Given the description of an element on the screen output the (x, y) to click on. 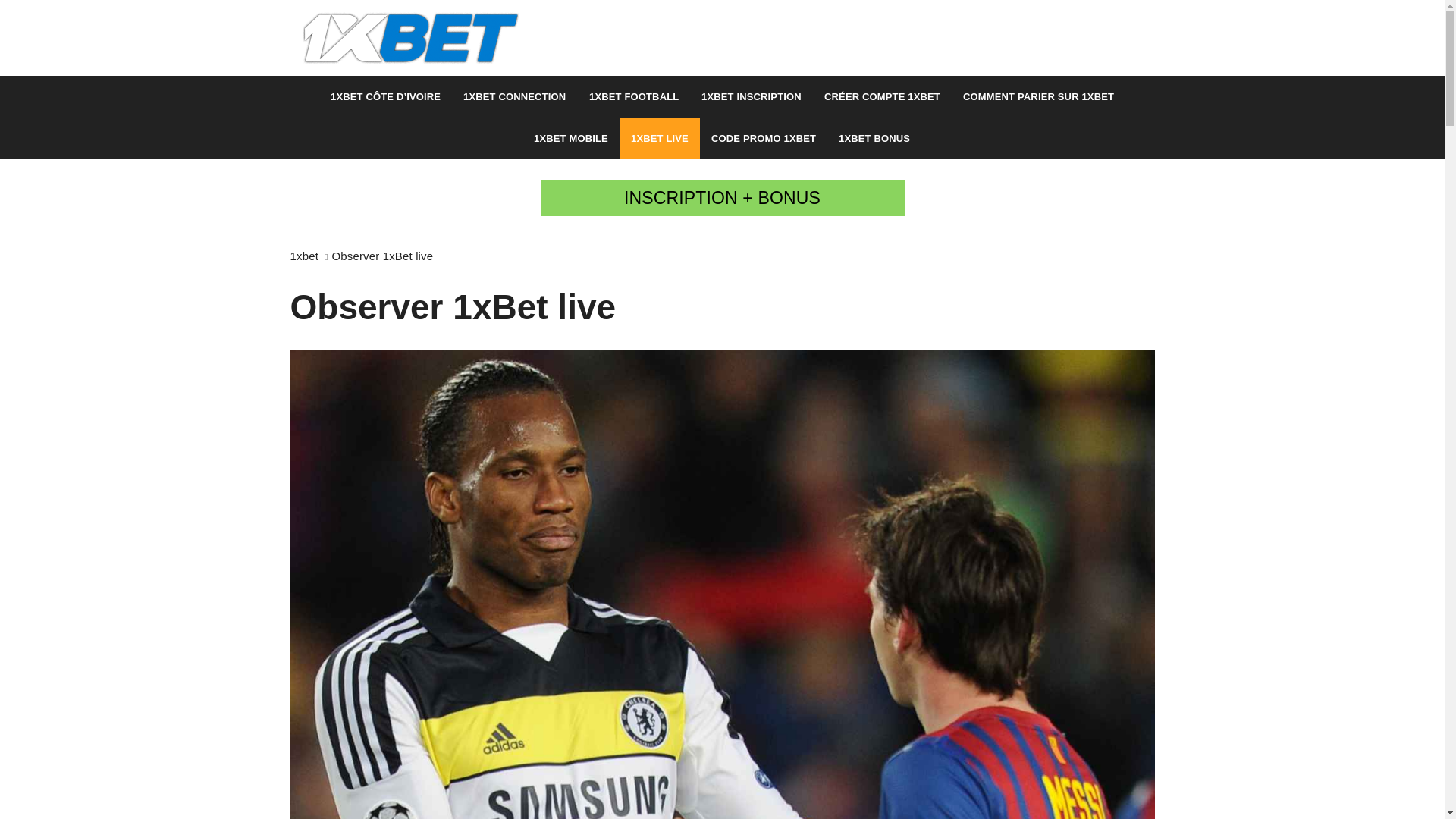
1xbet Element type: text (303, 255)
1XBET INSCRIPTION Element type: text (751, 96)
1XBET FOOTBALL Element type: text (633, 96)
CODE PROMO 1XBET Element type: text (763, 138)
INSCRIPTION + BONUS Element type: text (721, 198)
1XBET CONNECTION Element type: text (514, 96)
1XBET MOBILE Element type: text (570, 138)
1xbet-parissportifs.com Element type: text (514, 90)
1XBET BONUS Element type: text (874, 138)
1XBET LIVE Element type: text (659, 138)
COMMENT PARIER SUR 1XBET Element type: text (1038, 96)
